Given the description of an element on the screen output the (x, y) to click on. 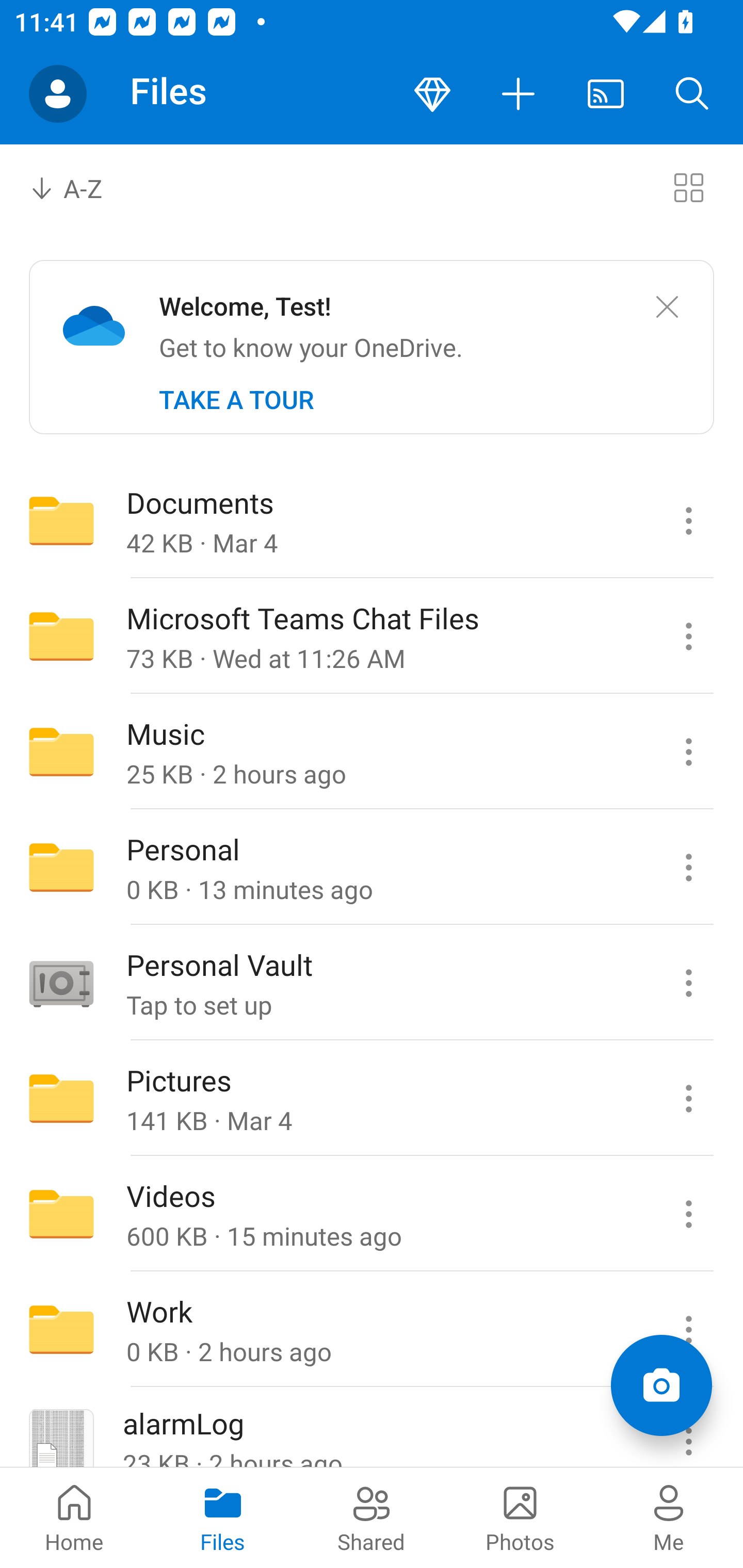
Account switcher (57, 93)
Cast. Disconnected (605, 93)
Premium button (432, 93)
More actions button (518, 93)
Search button (692, 93)
A-Z Sort by combo box, sort by name, A to Z (80, 187)
Switch to tiles view (688, 187)
Close (667, 307)
TAKE A TOUR (236, 399)
Folder Documents 42 KB · Mar 4 Documents commands (371, 520)
Documents commands (688, 520)
Microsoft Teams Chat Files commands (688, 636)
Folder Music 25 KB · 2 hours ago Music commands (371, 751)
Music commands (688, 751)
Personal commands (688, 867)
Personal Vault commands (688, 983)
Folder Pictures 141 KB · Mar 4 Pictures commands (371, 1099)
Pictures commands (688, 1099)
Videos commands (688, 1214)
Folder Work 0 KB · 2 hours ago Work commands (371, 1329)
Work commands (688, 1329)
Add items Scan (660, 1385)
alarmLog commands (688, 1427)
Home pivot Home (74, 1517)
Shared pivot Shared (371, 1517)
Photos pivot Photos (519, 1517)
Me pivot Me (668, 1517)
